Given the description of an element on the screen output the (x, y) to click on. 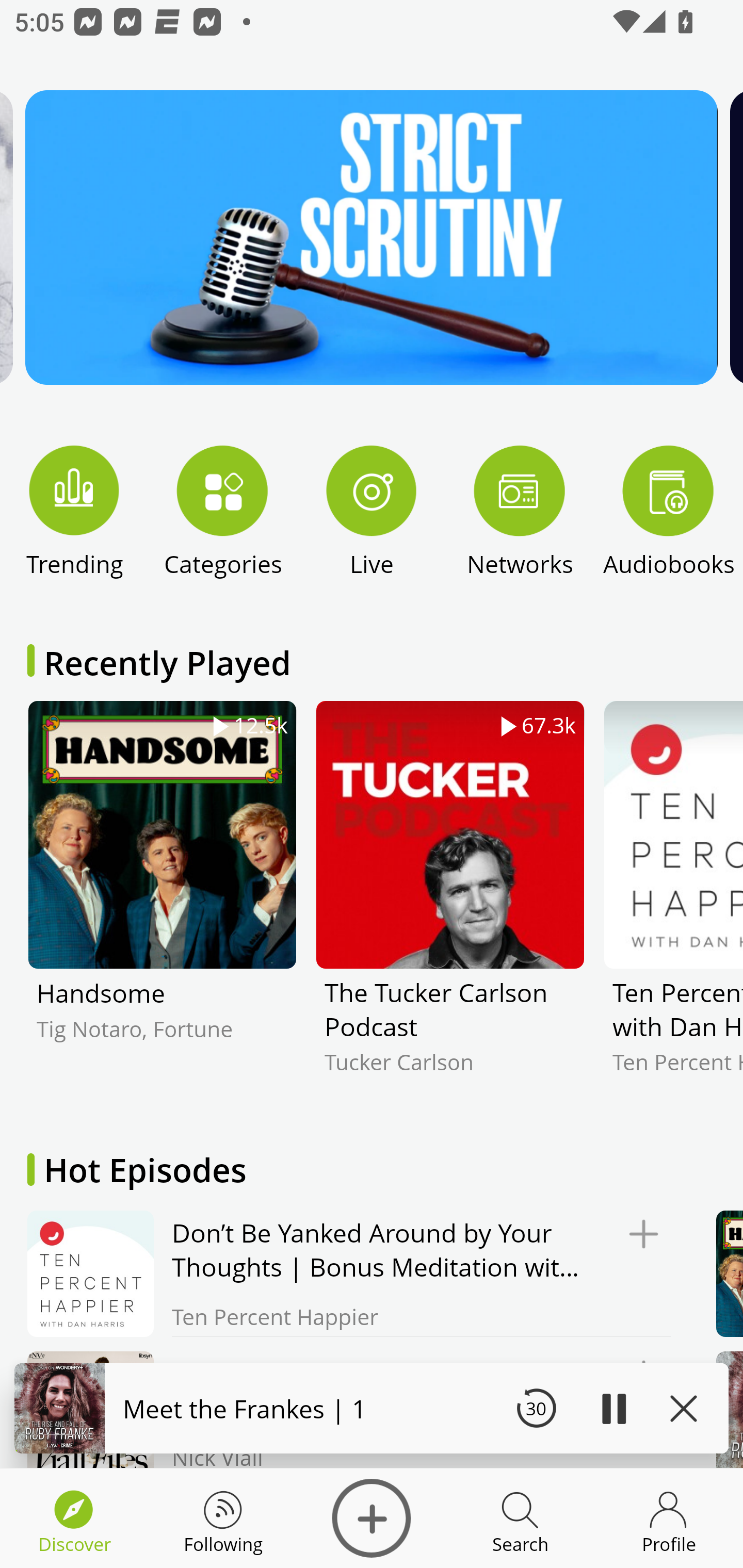
67.3k The Tucker Carlson Podcast Tucker Carlson (450, 902)
Meet the Frankes | 1 30 Seek Backward 6959.0 Play (371, 1407)
Play (613, 1407)
30 Seek Backward (536, 1407)
Discover Following (222, 1518)
Discover (371, 1518)
Discover Search (519, 1518)
Discover Profile (668, 1518)
